Given the description of an element on the screen output the (x, y) to click on. 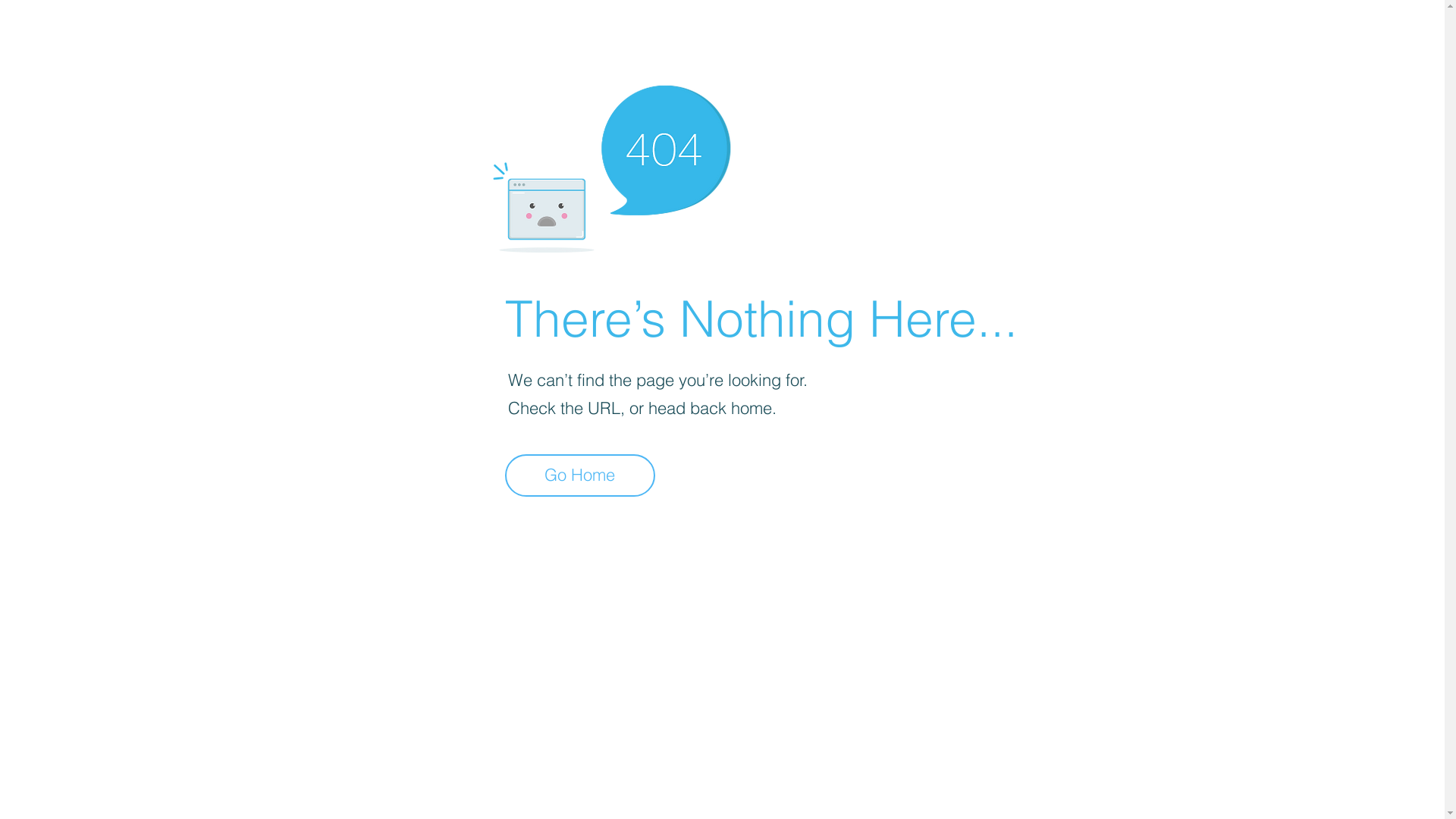
404-icon_2.png Element type: hover (610, 164)
Go Home Element type: text (580, 475)
